Given the description of an element on the screen output the (x, y) to click on. 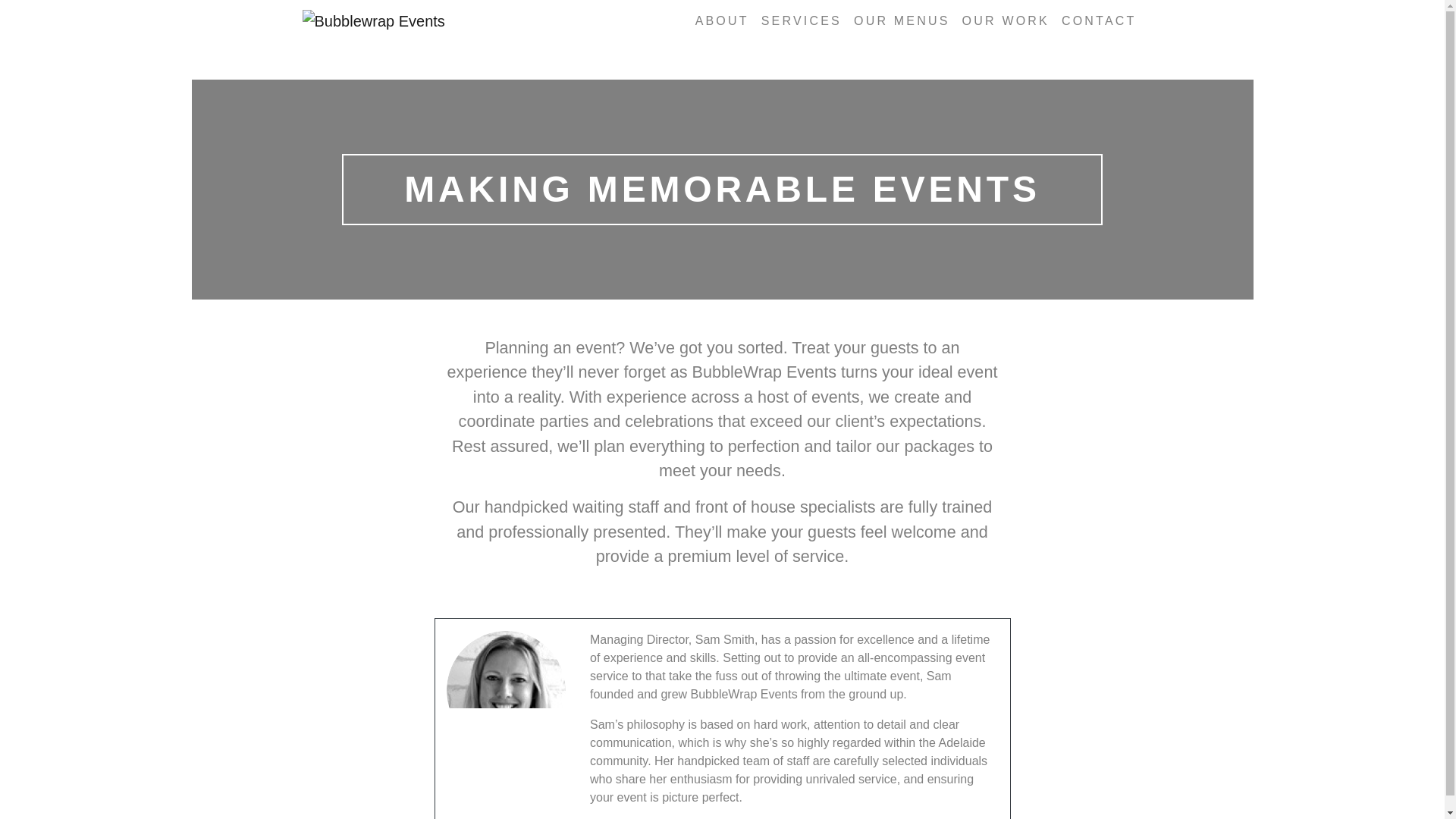
CONTACT (1098, 20)
OUR WORK (1005, 20)
OUR MENUS (901, 20)
SERVICES (801, 20)
ABOUT (721, 20)
